Given the description of an element on the screen output the (x, y) to click on. 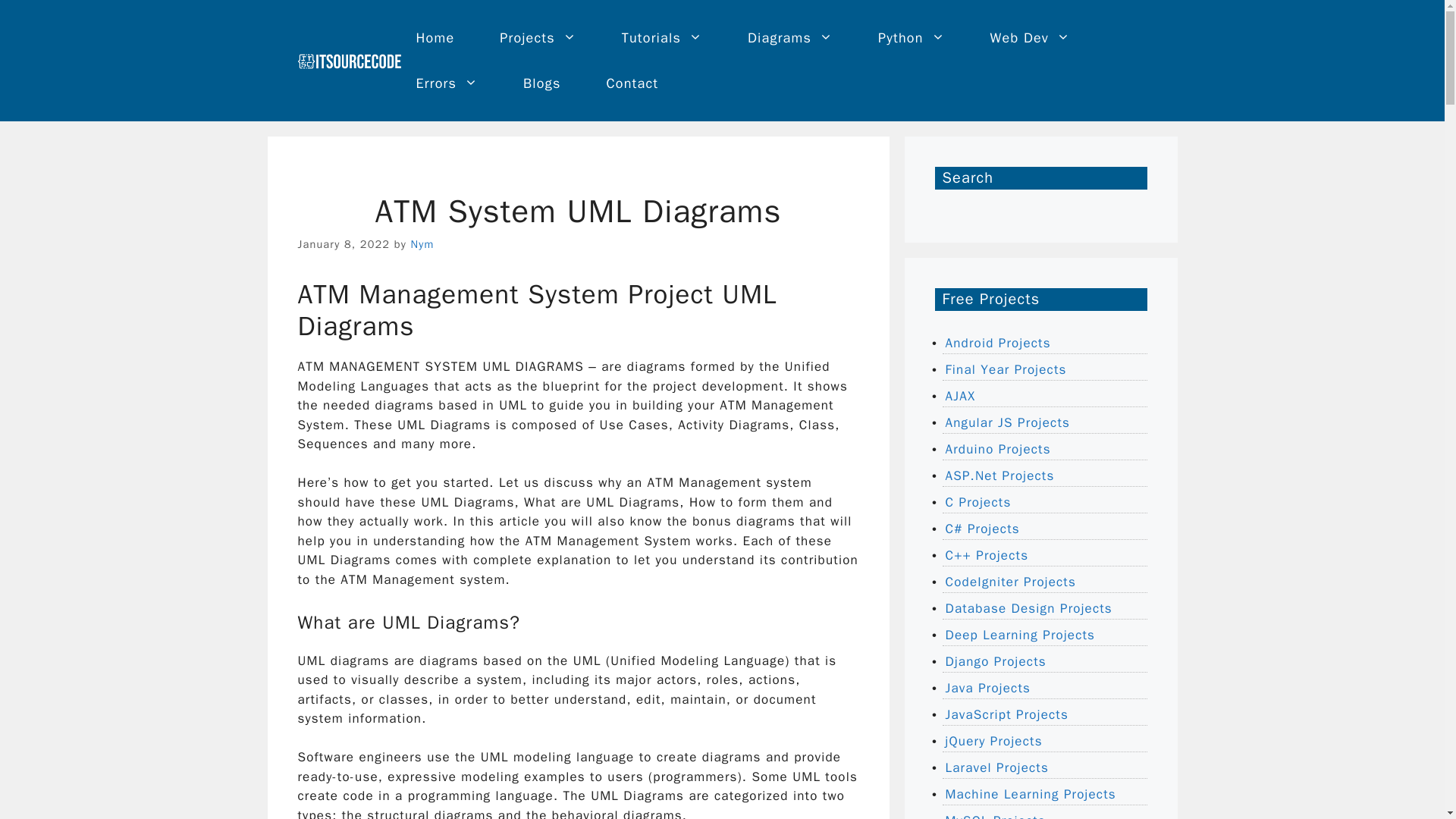
Home (435, 37)
Tutorials (662, 37)
Diagrams (789, 37)
View all posts by Nym (421, 243)
Projects (537, 37)
Python (911, 37)
